Given the description of an element on the screen output the (x, y) to click on. 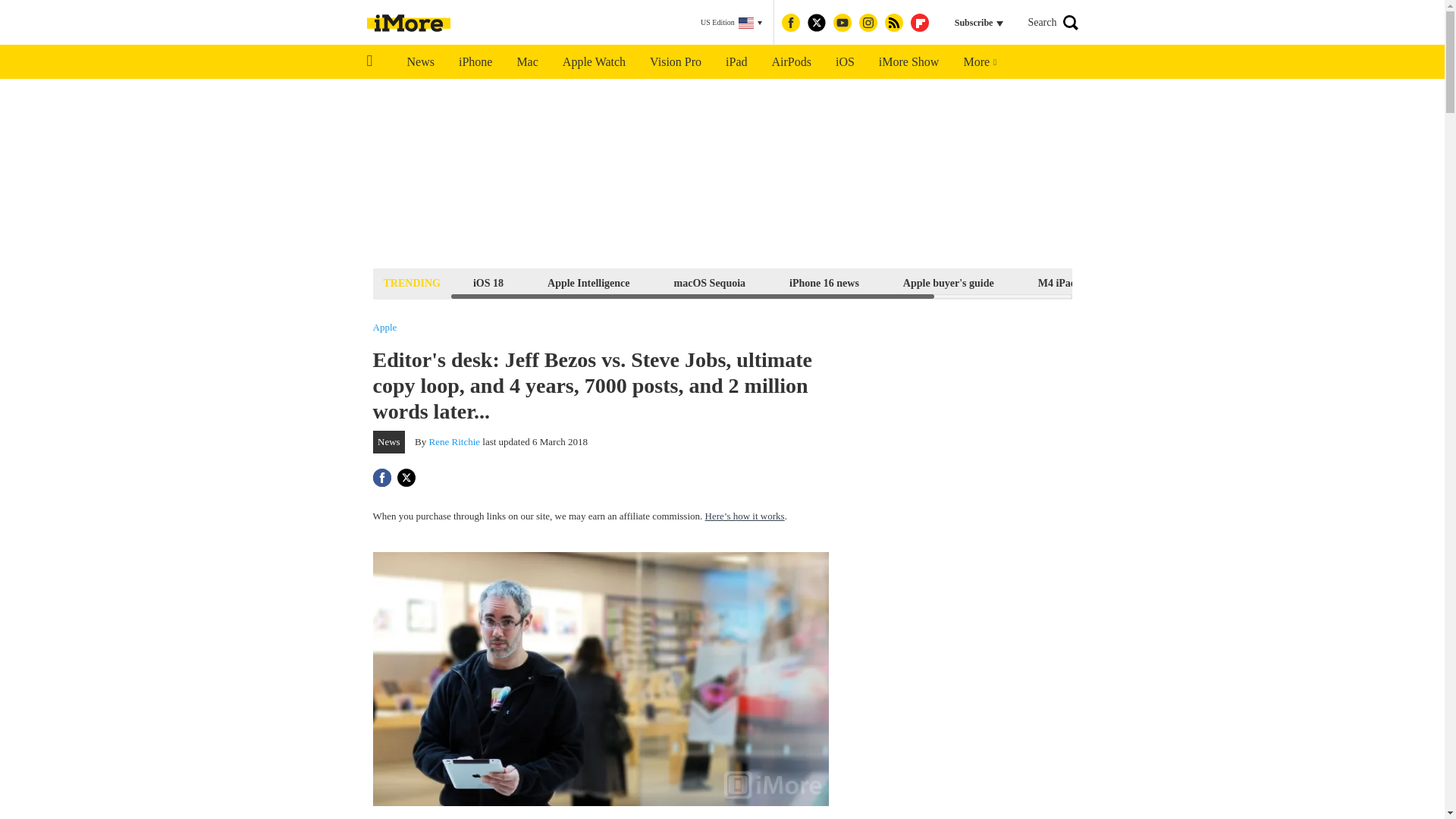
US Edition (731, 22)
iPad (735, 61)
iMore Show (909, 61)
News (419, 61)
iOS (845, 61)
iPhone (474, 61)
AirPods (792, 61)
Apple Watch (593, 61)
Vision Pro (675, 61)
Mac (526, 61)
